Given the description of an element on the screen output the (x, y) to click on. 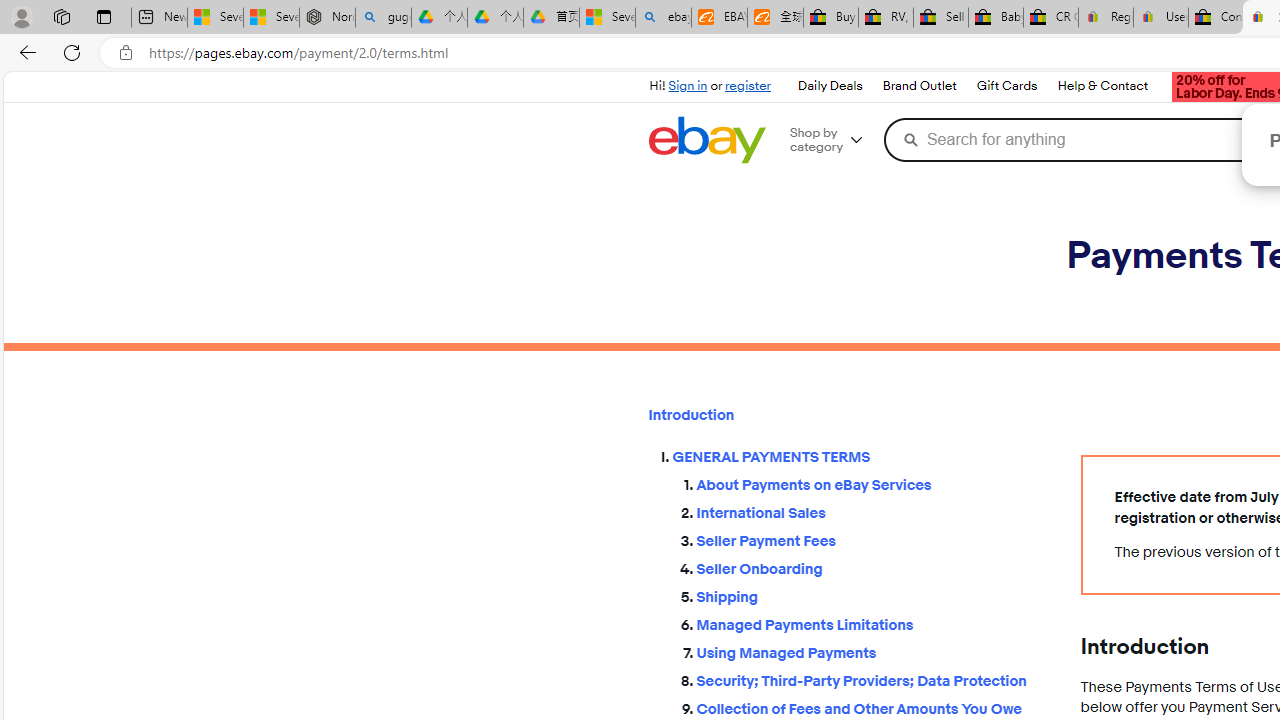
Managed Payments Limitations (872, 620)
Gift Cards (1006, 86)
RV, Trailer & Camper Steps & Ladders for sale | eBay (885, 17)
Collection of Fees and Other Amounts You Owe (872, 705)
Help & Contact (1101, 85)
Seller Payment Fees (872, 537)
Seller Payment Fees (872, 541)
User Privacy Notice | eBay (1160, 17)
Seller Onboarding (872, 569)
Register: Create a personal eBay account (1105, 17)
Consumer Health Data Privacy Policy - eBay Inc. (1215, 17)
